Given the description of an element on the screen output the (x, y) to click on. 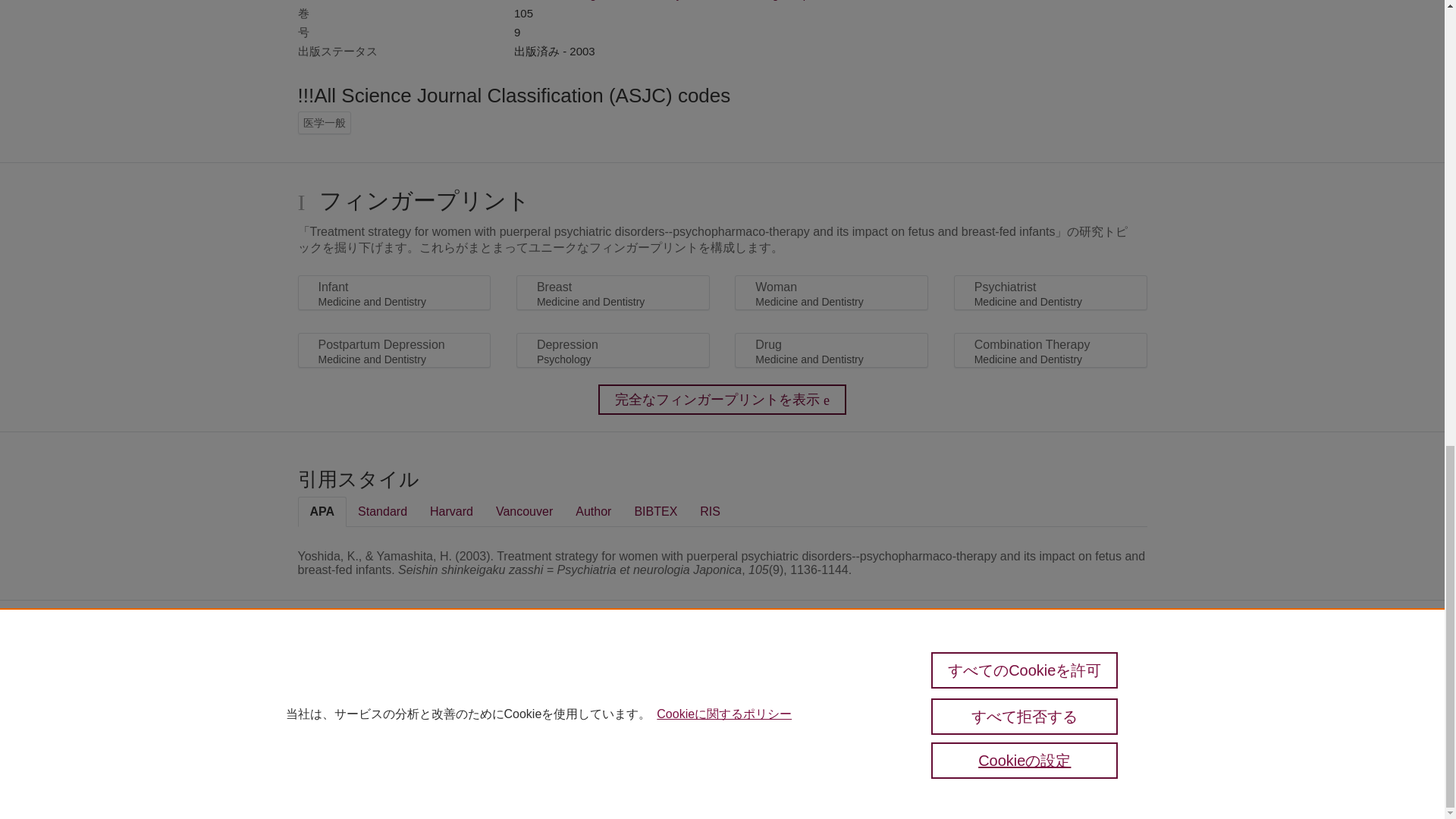
Elsevier B.V. (545, 699)
Scopus (362, 676)
Pure (330, 676)
